Given the description of an element on the screen output the (x, y) to click on. 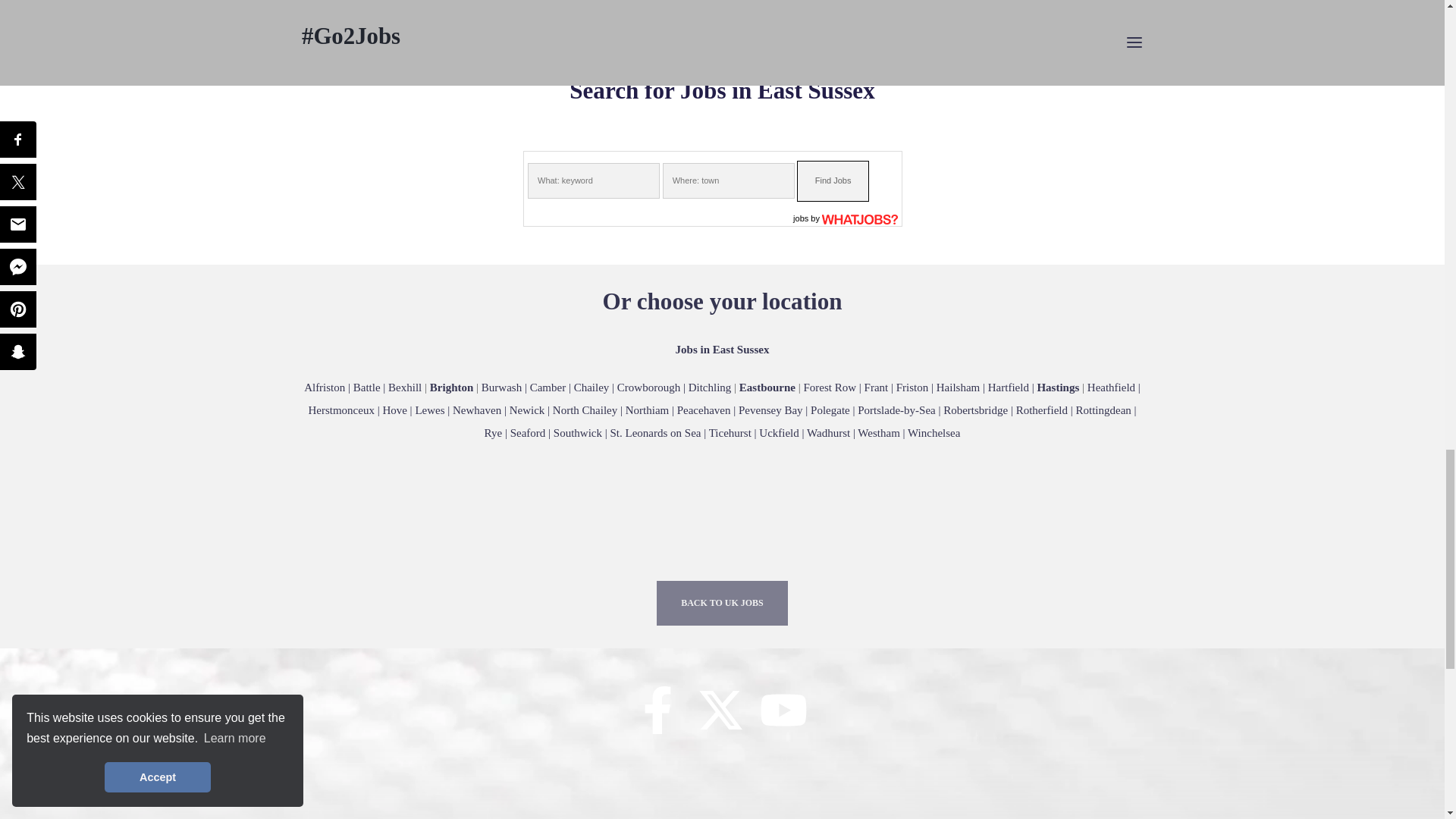
Back to Job Search UK (721, 602)
Jobs in East Sussex (363, 387)
Jobs in Eastbourne (766, 387)
Jobs in East Sussex (605, 387)
Jobs in East Sussex (918, 387)
Jobs in East Sussex (723, 409)
Jobs in Brighton (451, 387)
East Sussex Jobs on Facebook (657, 717)
Jobs in East Sussex (722, 349)
Job Search (860, 217)
Find Jobs (832, 180)
Job Search (800, 217)
Jobs in Hastings (1057, 387)
